Given the description of an element on the screen output the (x, y) to click on. 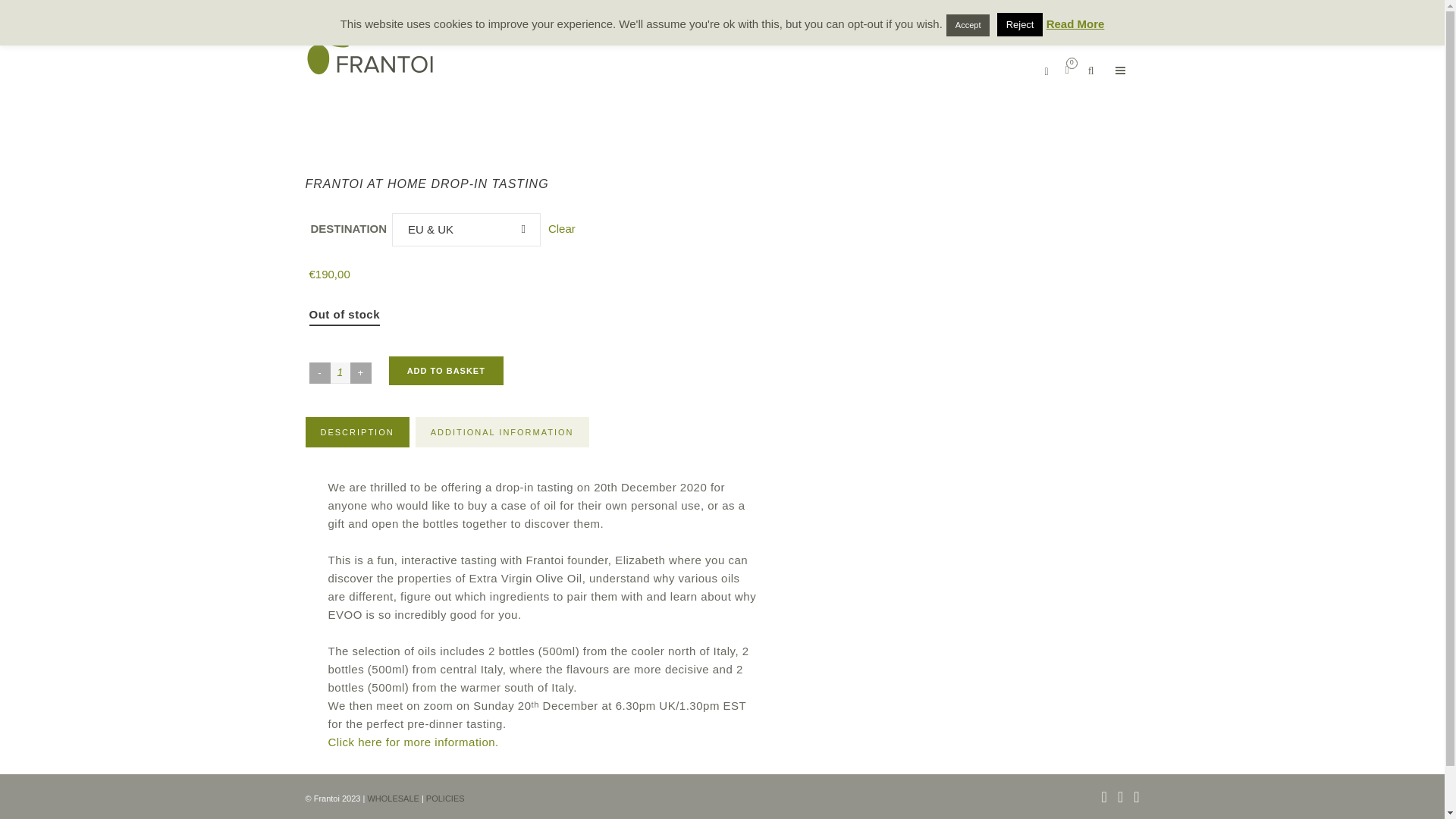
Import (1086, 1)
Reject (1020, 24)
- (319, 373)
Click here for more information.  (414, 741)
Read More (1075, 23)
DESCRIPTION (356, 431)
ADD TO BASKET (445, 370)
ADDITIONAL INFORMATION (501, 431)
POLICIES (445, 798)
